Given the description of an element on the screen output the (x, y) to click on. 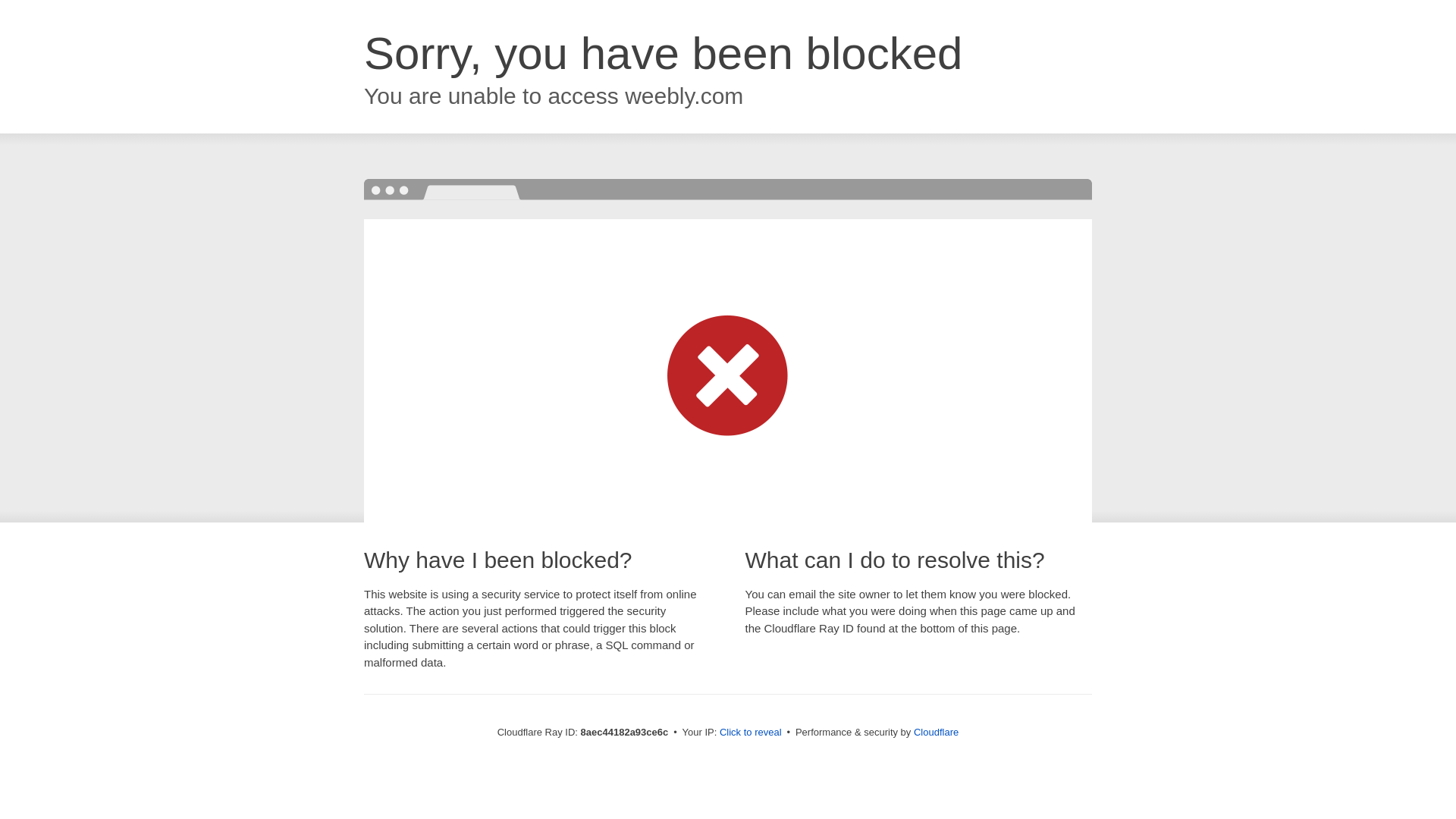
Cloudflare (936, 731)
Click to reveal (750, 732)
